Given the description of an element on the screen output the (x, y) to click on. 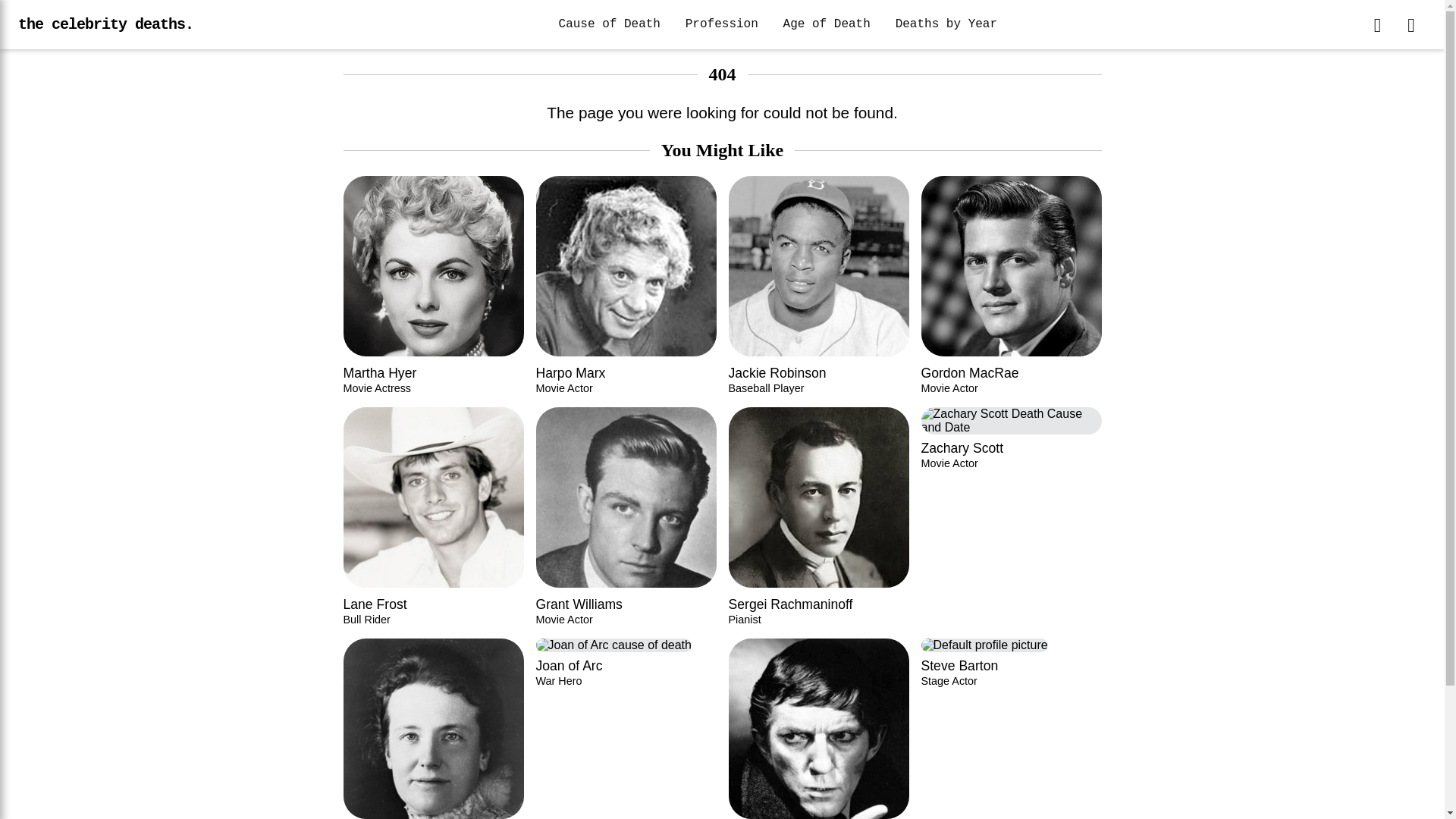
Age of Death (432, 728)
Profession (818, 728)
Joan of Arc (826, 24)
Cause of Death (721, 24)
Jonathan Frid (625, 728)
Edith Roosevelt (610, 24)
